Given the description of an element on the screen output the (x, y) to click on. 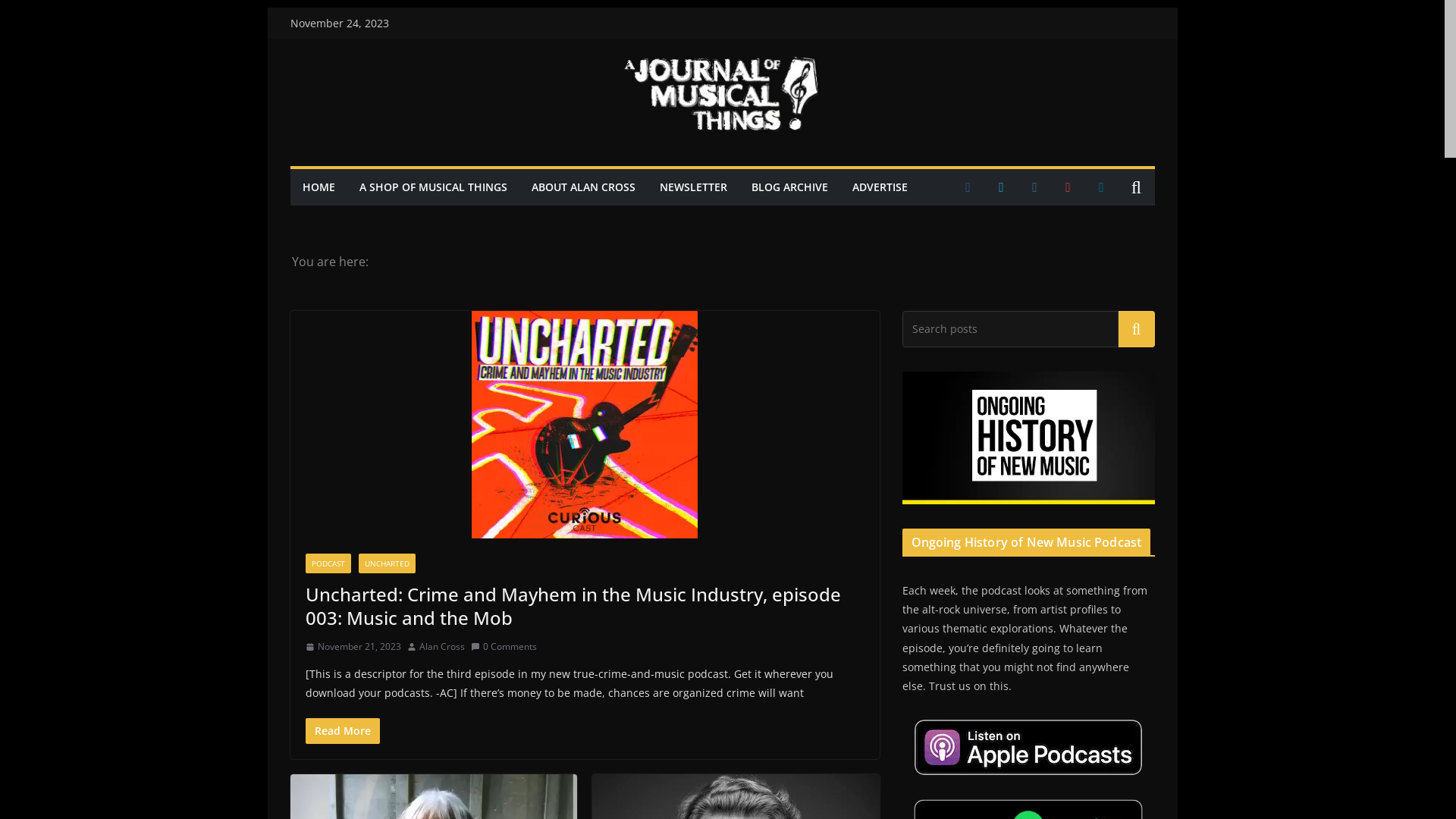
PODCAST Element type: text (327, 563)
UNCHARTED Element type: text (385, 563)
A SHOP OF MUSICAL THINGS Element type: text (433, 186)
Skip to content Element type: text (266, 6)
Alan Cross Element type: text (441, 646)
NEWSLETTER Element type: text (693, 186)
0 Comments Element type: text (503, 646)
ABOUT ALAN CROSS Element type: text (582, 186)
Read More Element type: text (341, 730)
November 21, 2023 Element type: text (352, 646)
HOME Element type: text (317, 186)
BLOG ARCHIVE Element type: text (788, 186)
ADVERTISE Element type: text (879, 186)
